Given the description of an element on the screen output the (x, y) to click on. 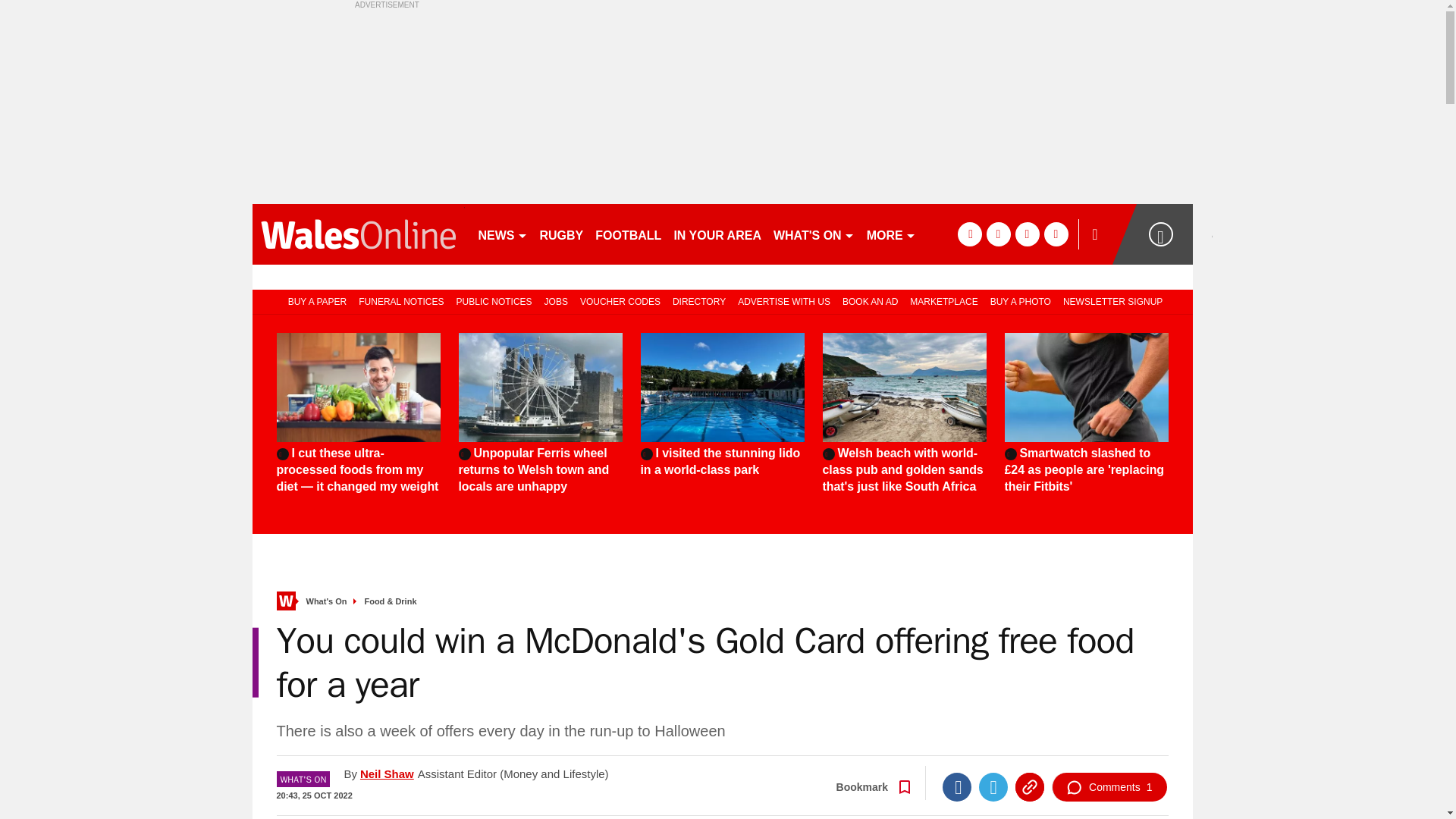
pinterest (1026, 233)
RUGBY (561, 233)
NEWS (501, 233)
Comments (1108, 787)
IN YOUR AREA (716, 233)
FOOTBALL (627, 233)
MORE (890, 233)
Twitter (992, 787)
facebook (968, 233)
twitter (997, 233)
instagram (1055, 233)
Facebook (956, 787)
